Given the description of an element on the screen output the (x, y) to click on. 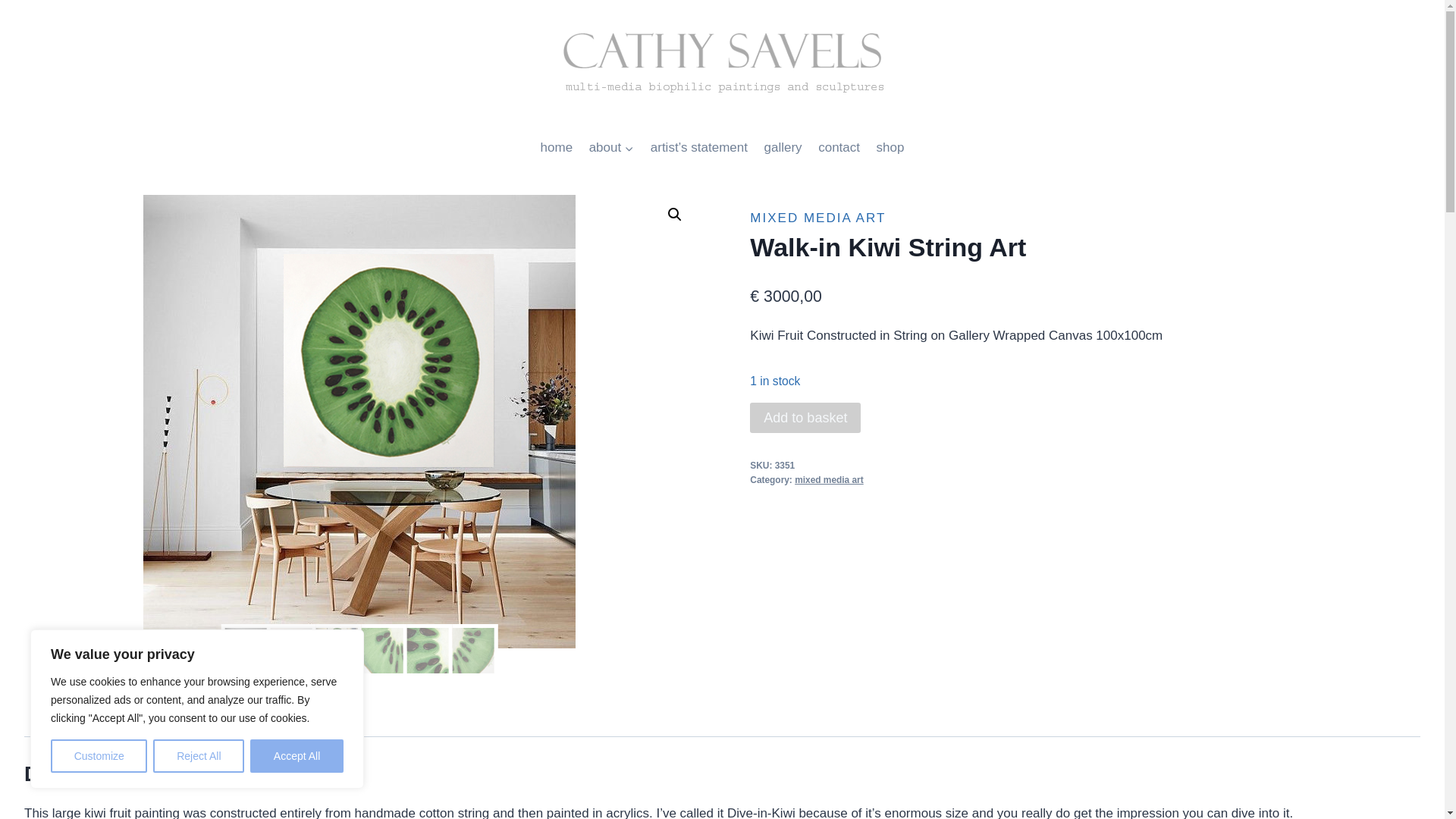
gallery (782, 147)
Add to basket (804, 417)
shop (889, 147)
MIXED MEDIA ART (817, 217)
about (611, 147)
contact (838, 147)
Customize (98, 756)
Description (76, 720)
Accept All (296, 756)
